Given the description of an element on the screen output the (x, y) to click on. 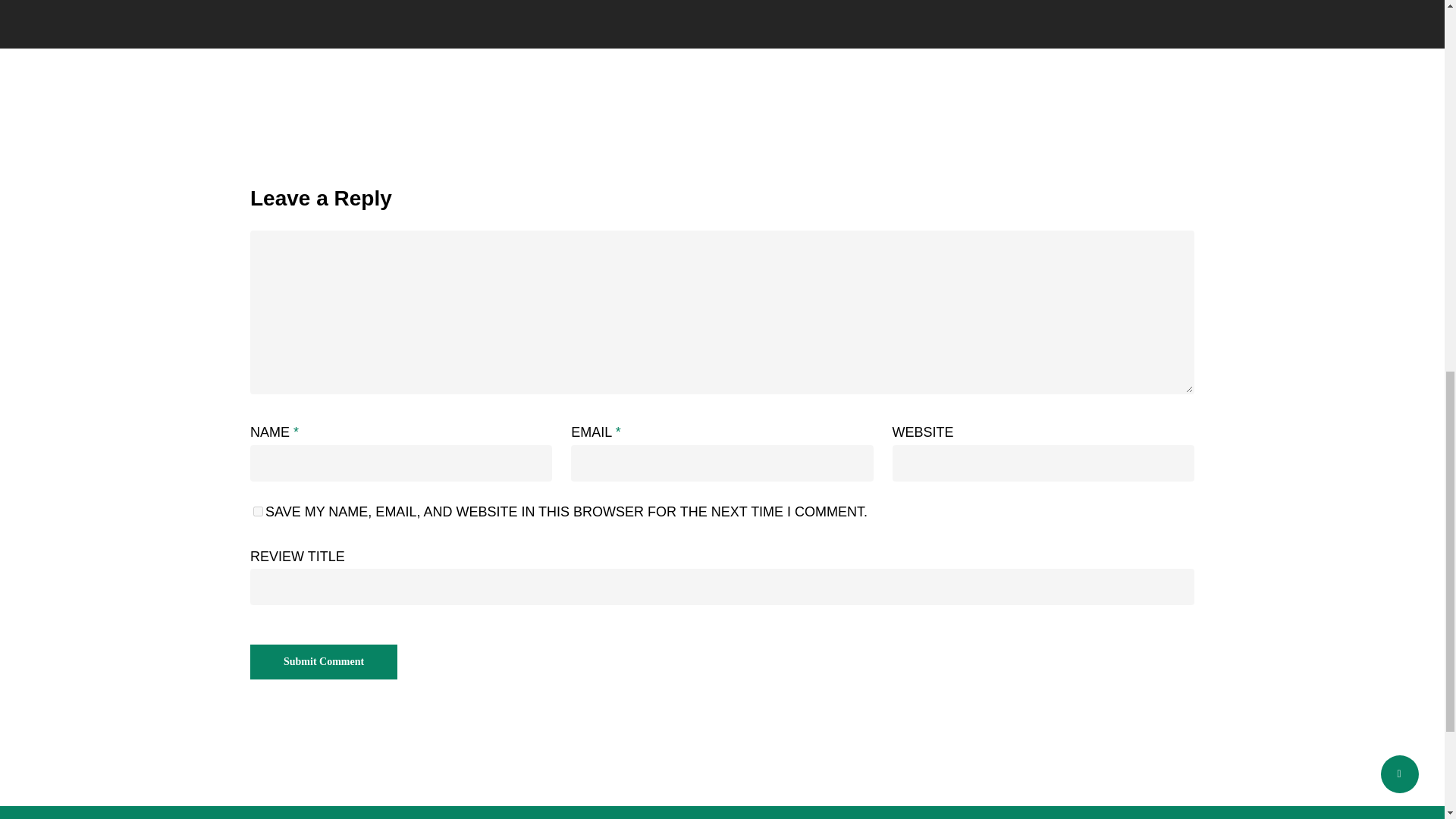
yes (258, 511)
Submit Comment (323, 661)
Submit Comment (323, 661)
